Given the description of an element on the screen output the (x, y) to click on. 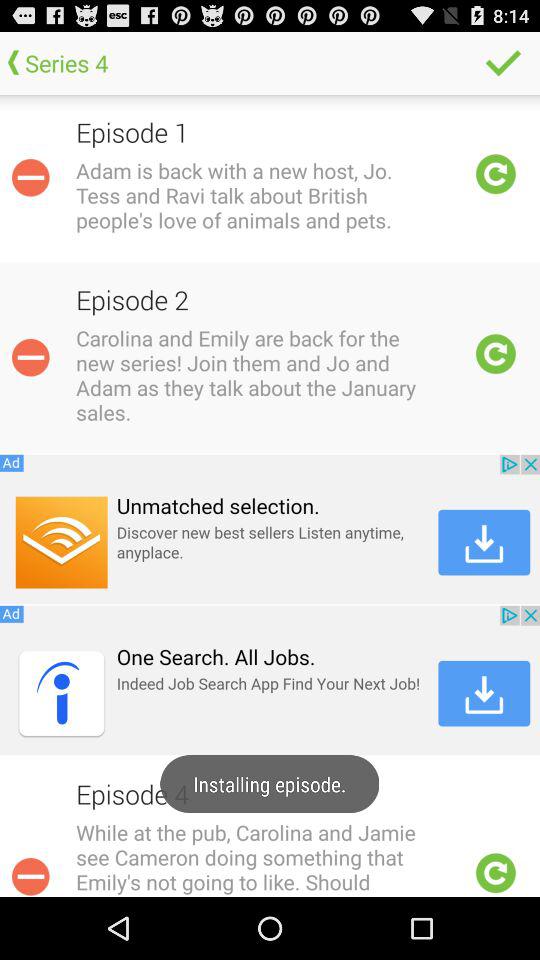
discover best sellers (270, 529)
